Given the description of an element on the screen output the (x, y) to click on. 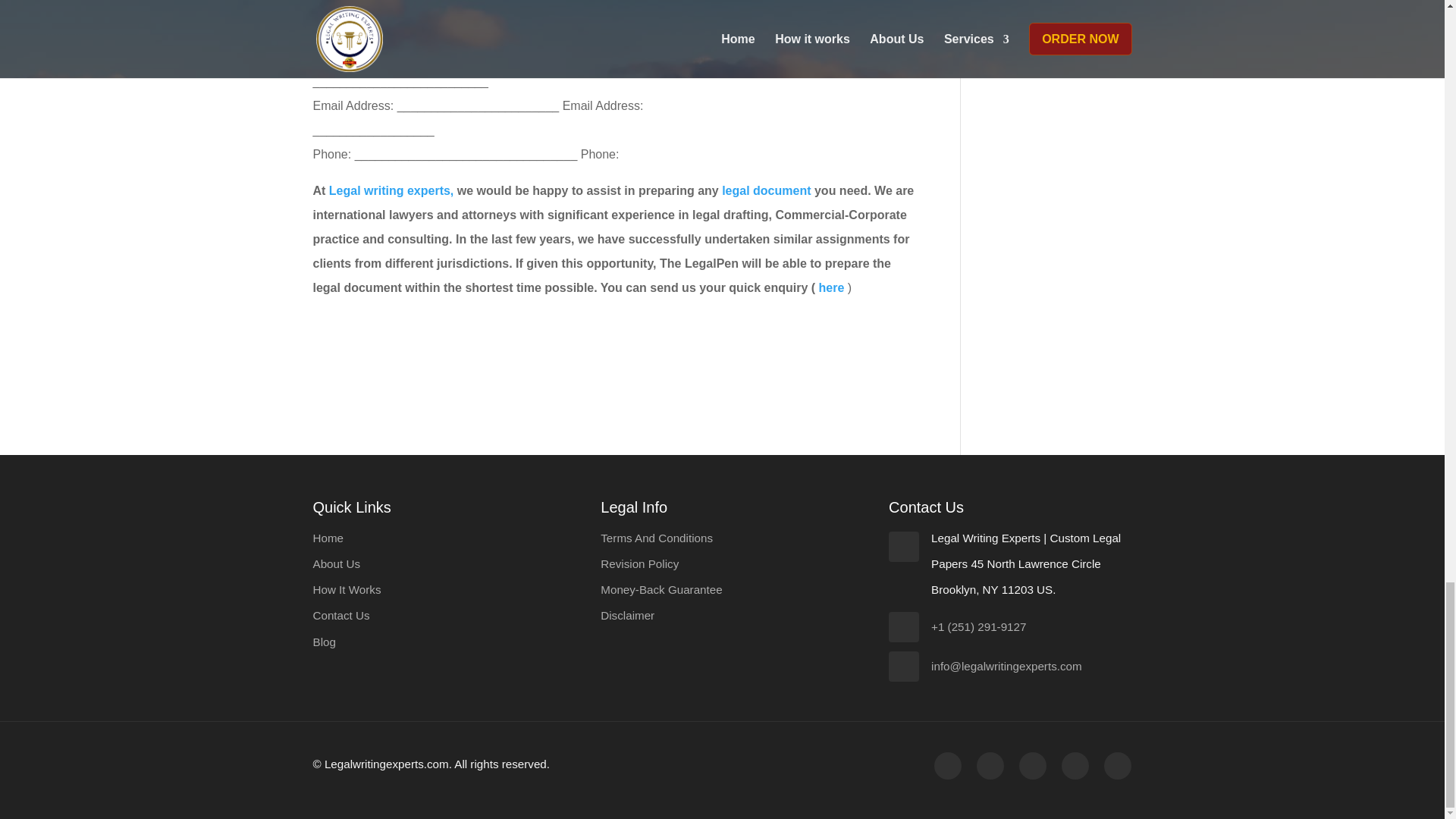
Terms And Conditions (656, 537)
Revision Policy (638, 563)
Money-Back Guarantee (660, 589)
Legal writing experts, (390, 190)
How It Works (346, 589)
here  (832, 287)
Disclaimer (626, 615)
Contact Us (341, 615)
Home (328, 537)
Blog (323, 641)
legal document (766, 190)
About Us (336, 563)
